Given the description of an element on the screen output the (x, y) to click on. 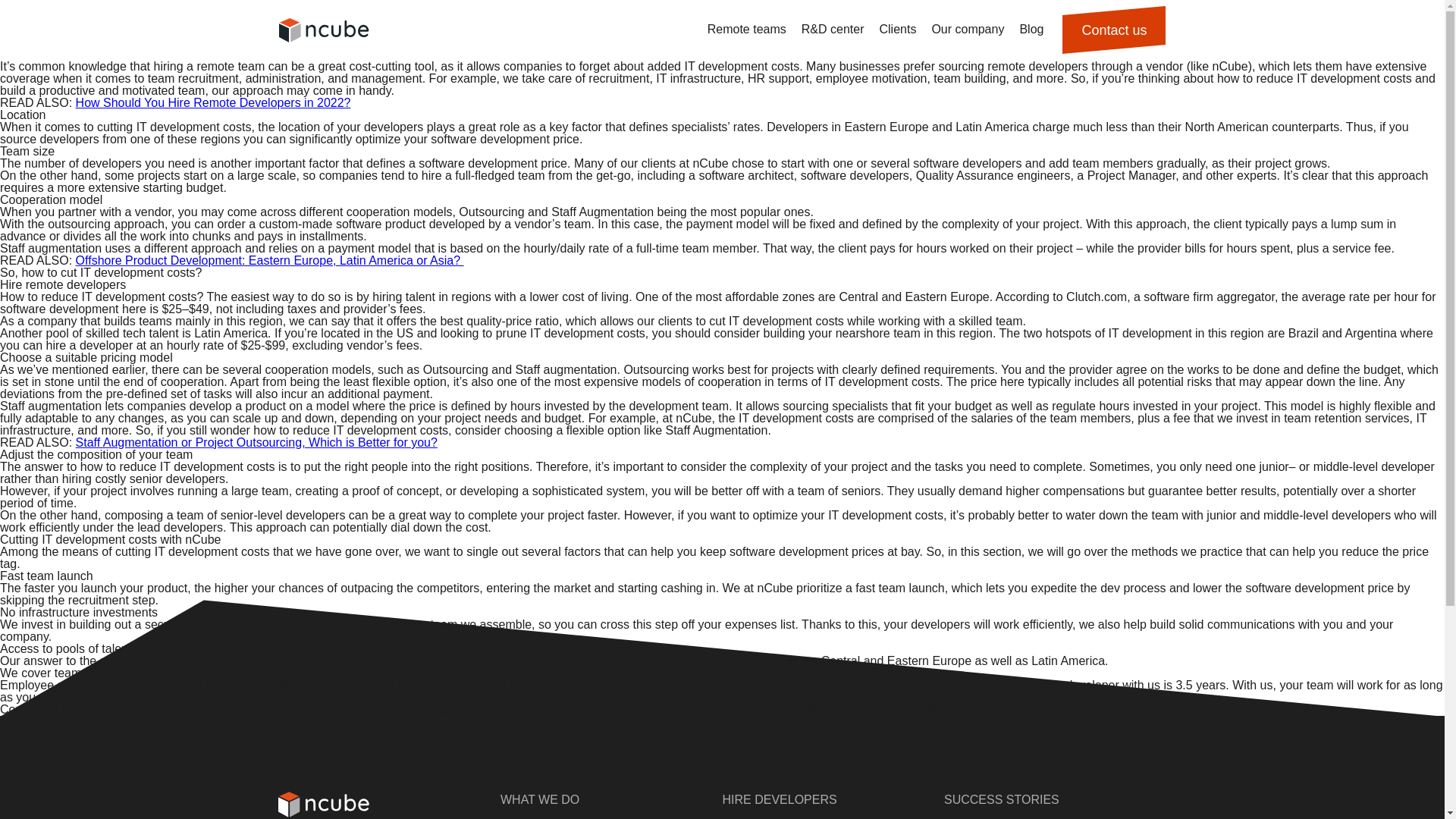
Clients (896, 30)
CD95CE5C-AC00-44EE-AA4A-66B7A8175267Created with sketchtool. (324, 30)
How Should You Hire Remote Developers in 2022? (212, 102)
Blog (1031, 30)
Contact us (1114, 29)
